Given the description of an element on the screen output the (x, y) to click on. 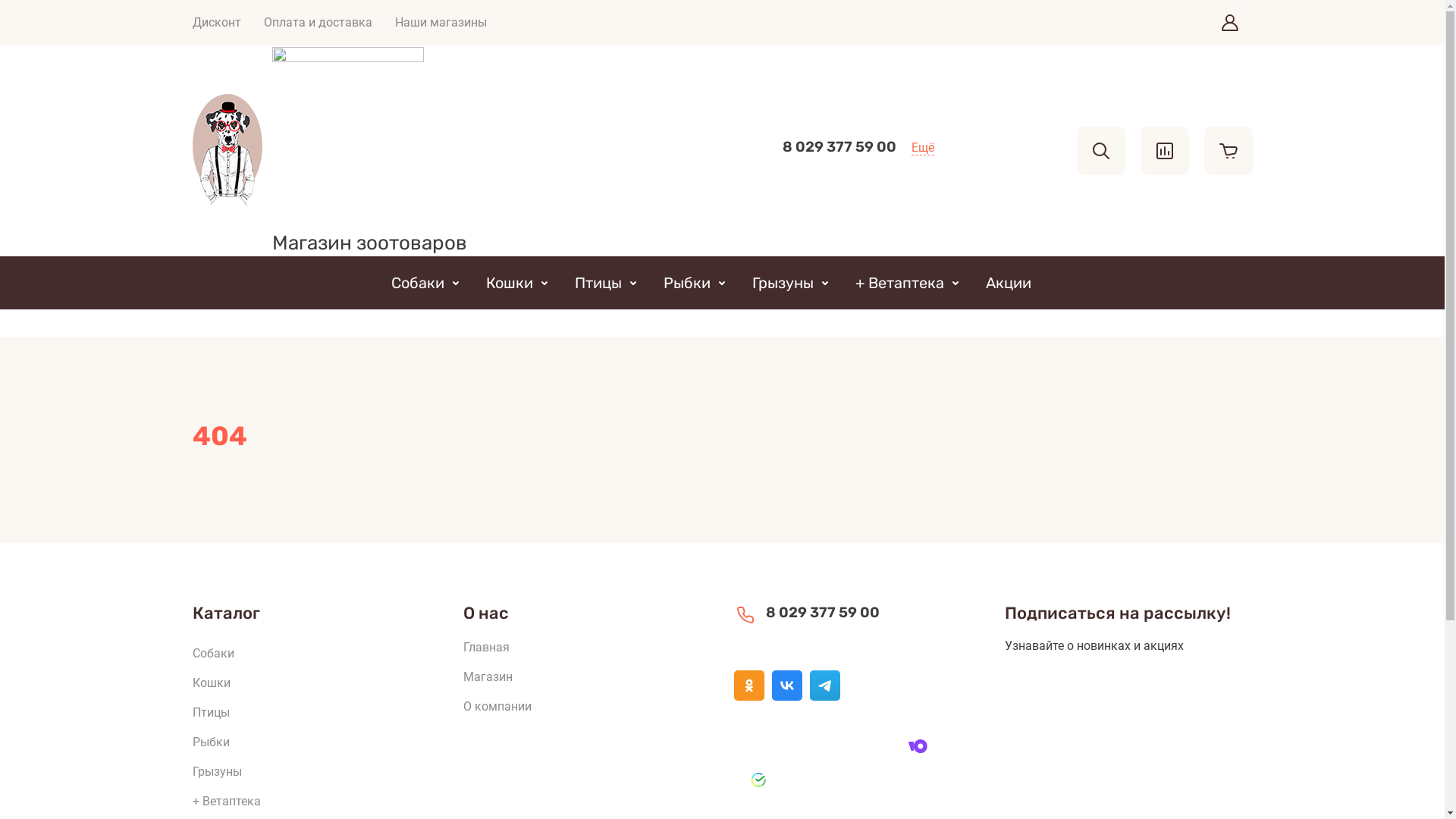
8 029 377 59 00 Element type: text (822, 612)
8 029 377 59 00 Element type: text (839, 146)
